Given the description of an element on the screen output the (x, y) to click on. 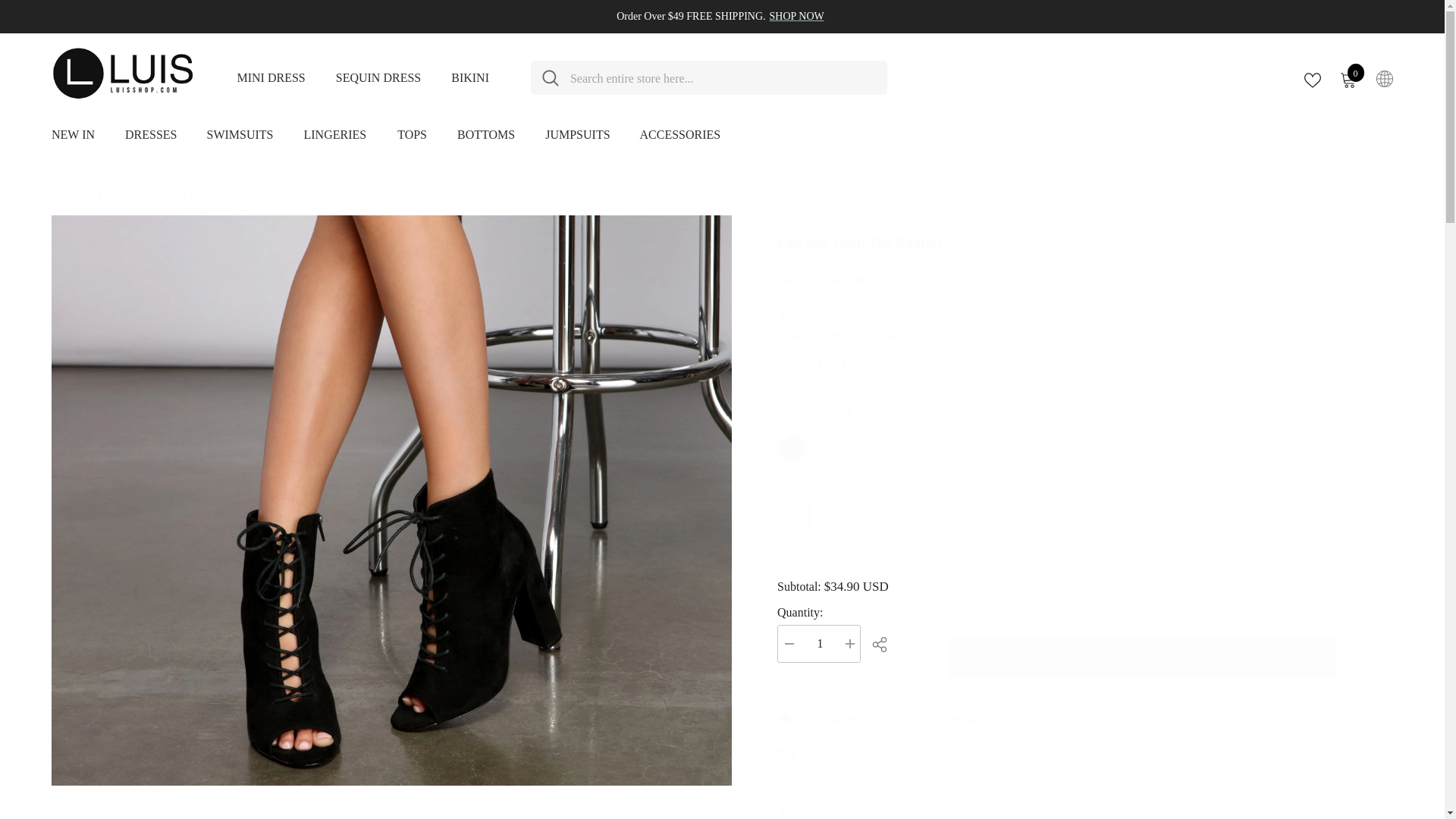
MINI DRESS (269, 77)
WISH LISTS (1312, 78)
10 customers are viewing this product (1085, 727)
BIKINI (470, 77)
Add to wishlist (917, 658)
1 (818, 643)
Eye Spy Peep Toe Booties (1085, 245)
SHOP NOW (797, 16)
Add To Cart (1085, 808)
Sequin Dresses (1347, 78)
